Given the description of an element on the screen output the (x, y) to click on. 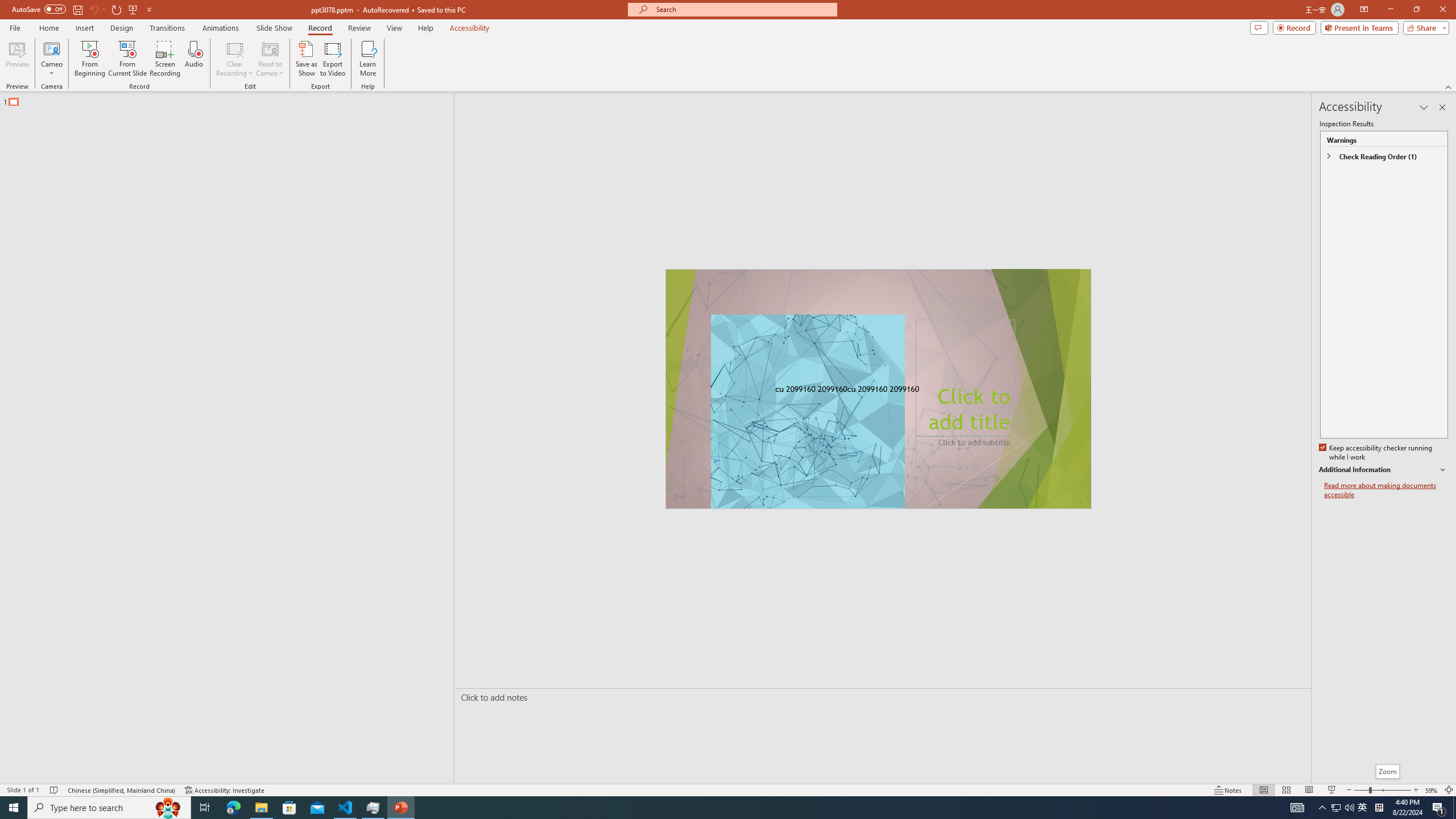
Subtitle TextBox (964, 451)
An abstract genetic concept (877, 388)
Slide Notes (880, 697)
Keep accessibility checker running while I work (1376, 452)
Screen Recording (165, 58)
Read more about making documents accessible (1385, 489)
Save as Show (306, 58)
